Given the description of an element on the screen output the (x, y) to click on. 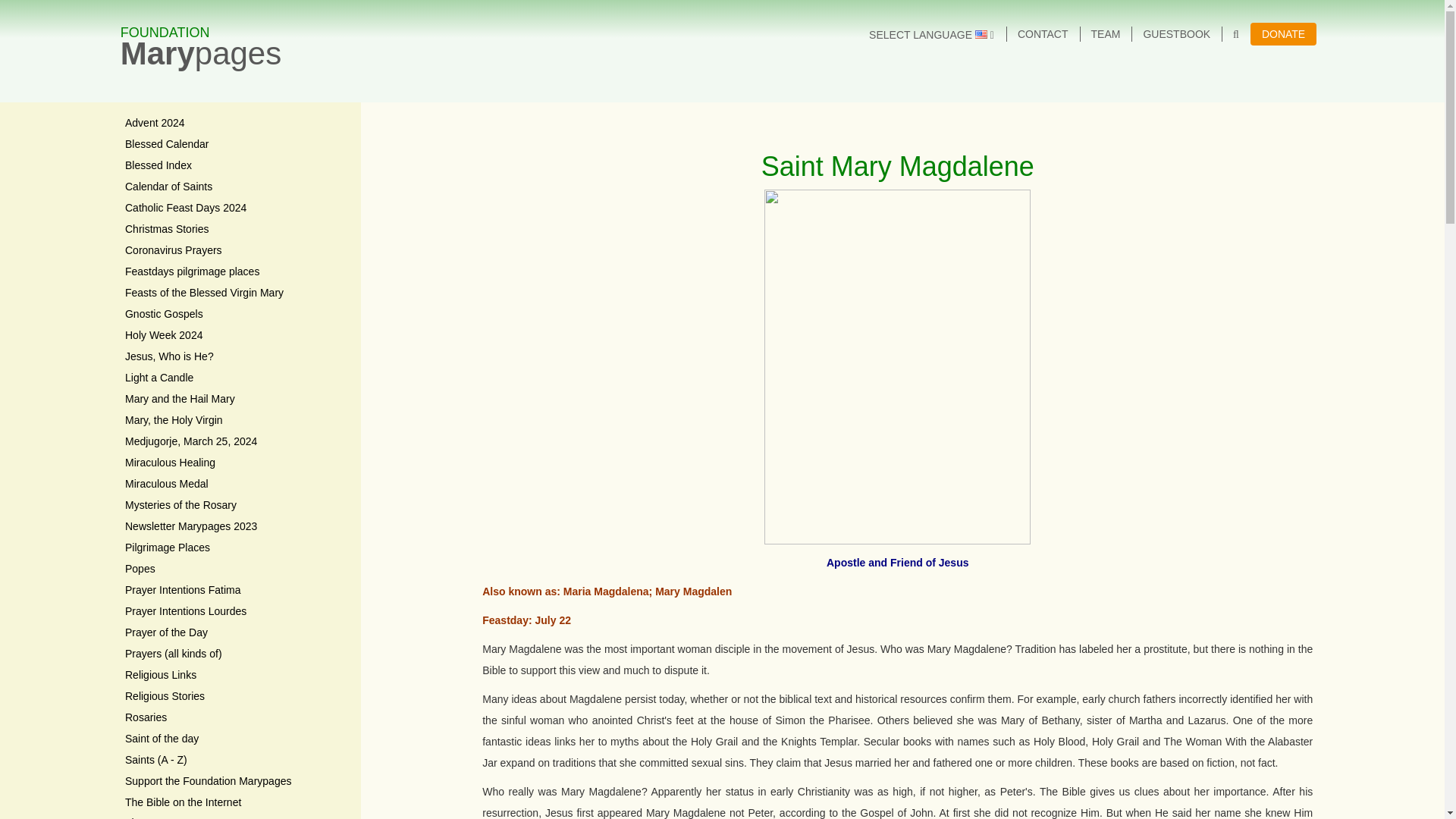
Calendar of Saints (234, 187)
Blessed Calendar (234, 144)
Catholic Feast Days 2024 (234, 208)
Coronavirus Prayers (201, 36)
Blessed Index (234, 250)
Christmas Stories (234, 166)
DONATE (234, 229)
SELECT LANGUAGE (1283, 33)
TEAM (931, 34)
